Given the description of an element on the screen output the (x, y) to click on. 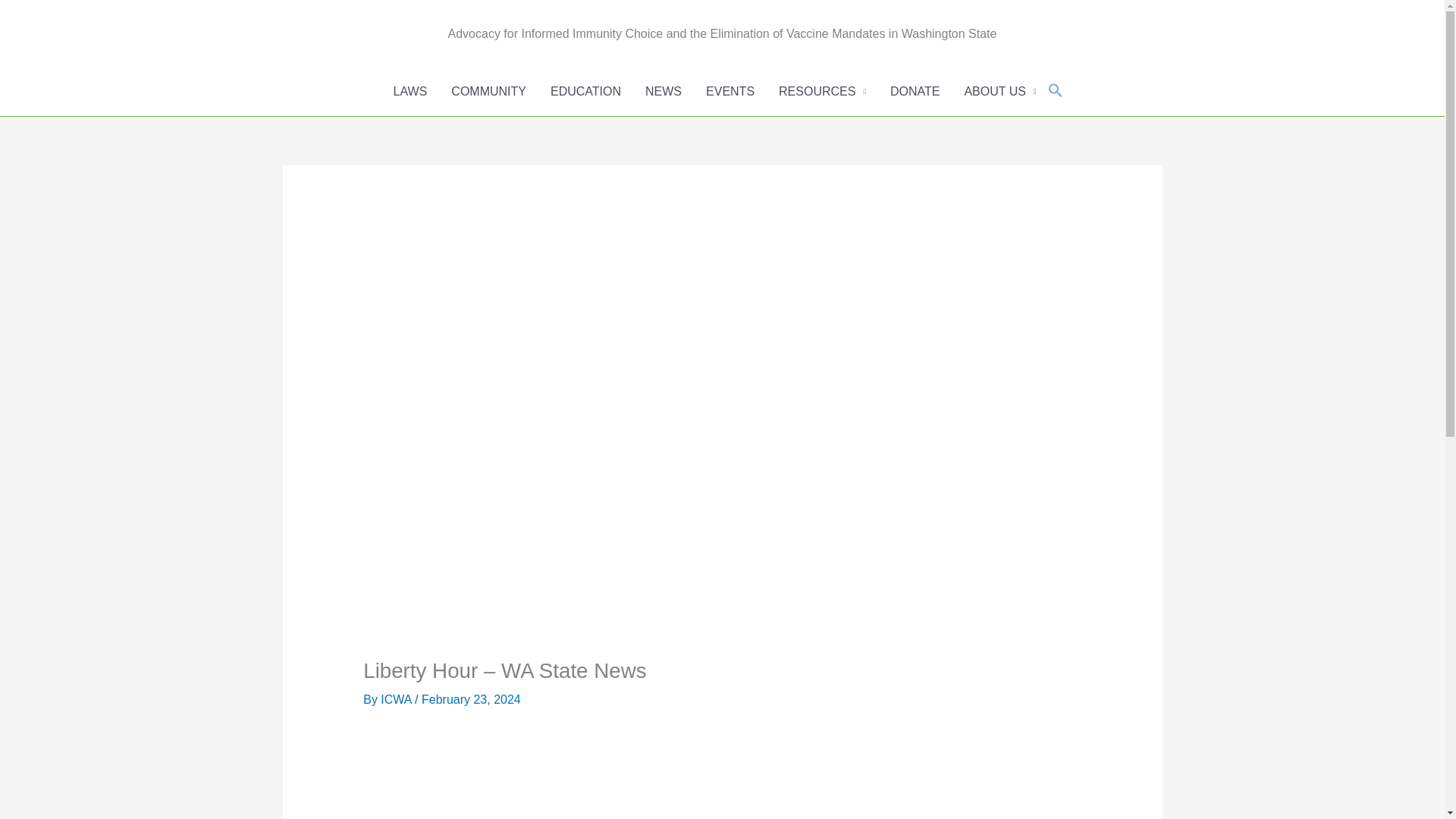
LAWS (410, 91)
ICWA (397, 698)
EDUCATION (585, 91)
NEWS (663, 91)
RESOURCES (822, 91)
COMMUNITY (488, 91)
View all posts by ICWA (397, 698)
EVENTS (730, 91)
ABOUT US (1000, 91)
DONATE (914, 91)
